Given the description of an element on the screen output the (x, y) to click on. 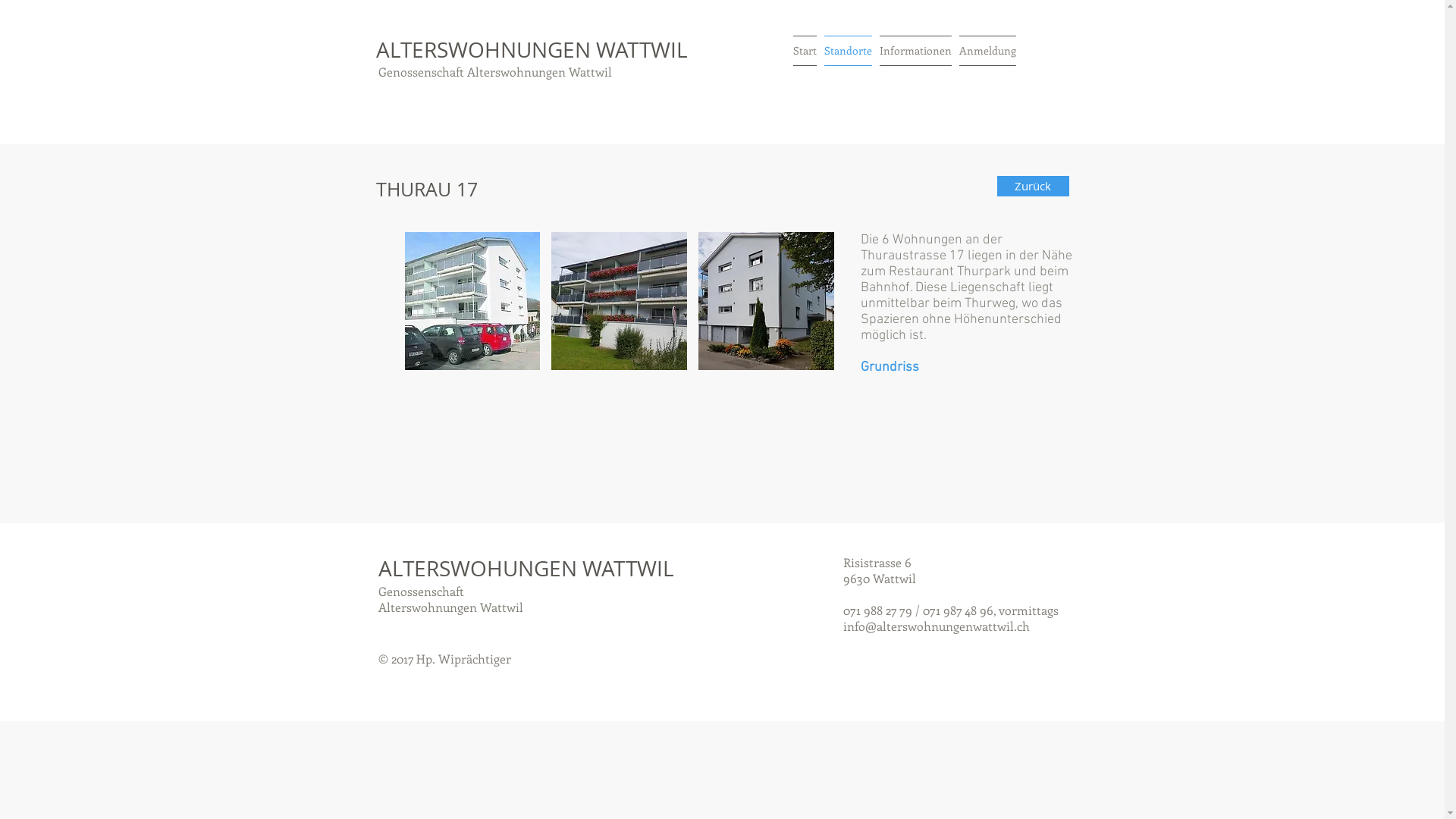
Standorte Element type: text (847, 50)
Anmeldung Element type: text (987, 50)
Informationen Element type: text (915, 50)
Grundriss Element type: text (888, 367)
Start Element type: text (804, 50)
info@alterswohnungenwattwil.ch Element type: text (936, 625)
